Given the description of an element on the screen output the (x, y) to click on. 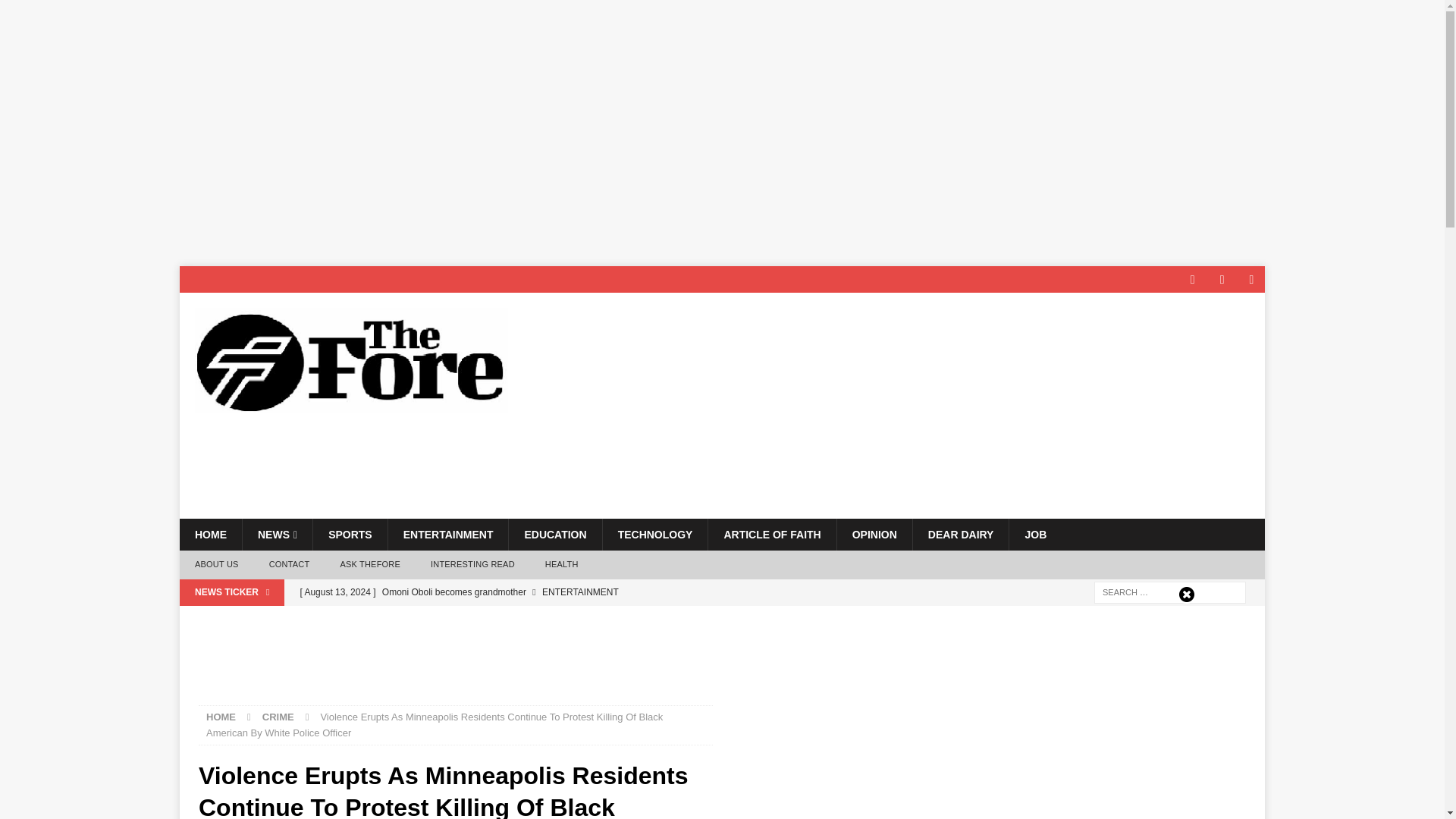
Omoni Oboli becomes grandmother (589, 592)
NEWS (277, 534)
Advertisement (973, 448)
CONTACT (288, 564)
Peter Obi visits PSquare amidst ongoing brotherly beef (589, 617)
Advertisement (455, 664)
ENTERTAINMENT (447, 534)
TECHNOLOGY (654, 534)
JOB (1035, 534)
